Given the description of an element on the screen output the (x, y) to click on. 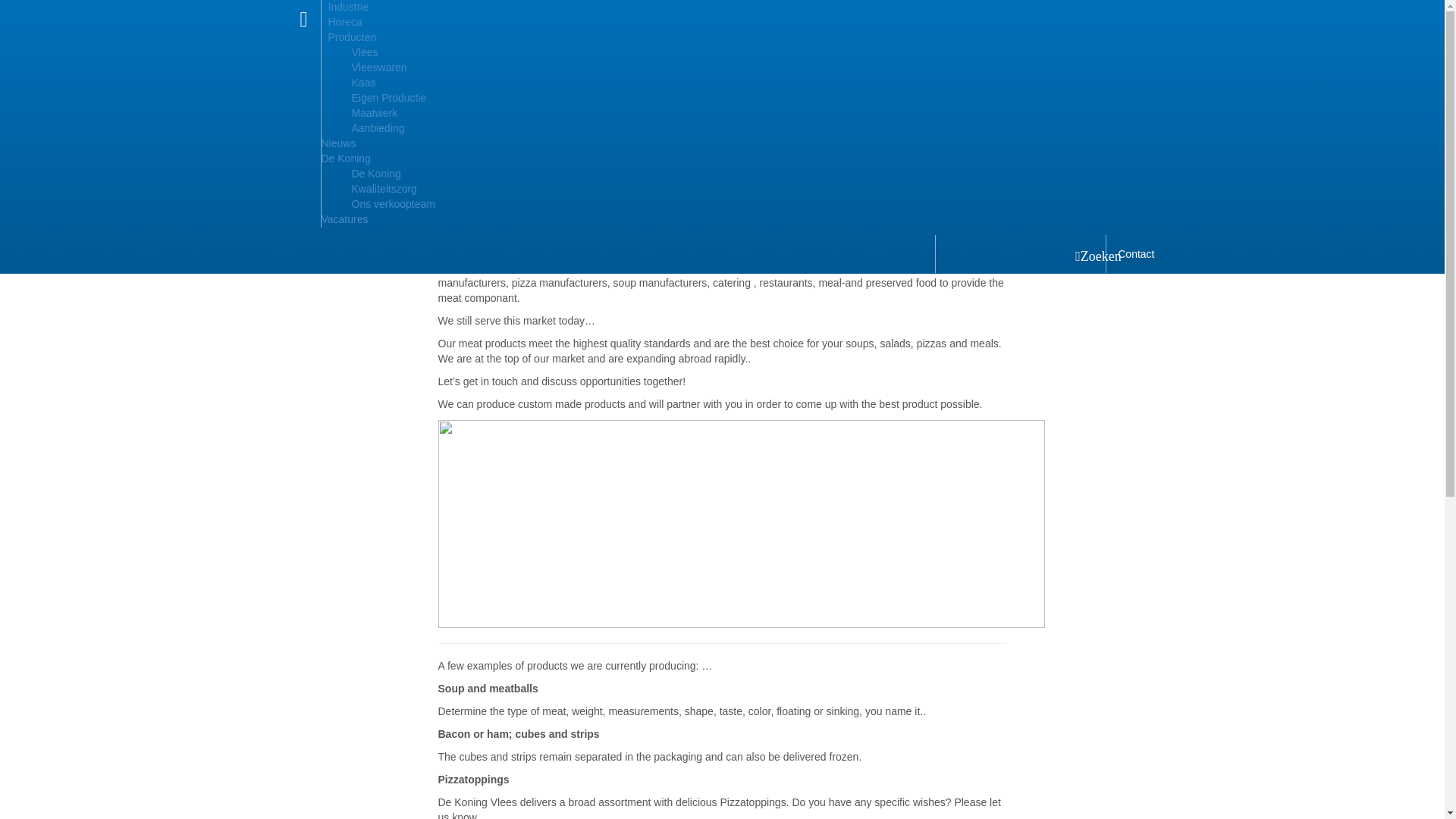
Producten (351, 37)
Ons verkoopteam (393, 203)
Kwaliteitszorg (384, 188)
Aanbieding (378, 128)
Contact (1136, 253)
Kaas (363, 82)
De Koning (346, 158)
Horeca (344, 21)
Vleeswaren (379, 67)
Nieuws (338, 143)
Eigen Productie (389, 97)
Industrie (347, 6)
Maatwerk (374, 112)
Vacatures (344, 218)
De Koning (376, 173)
